Given the description of an element on the screen output the (x, y) to click on. 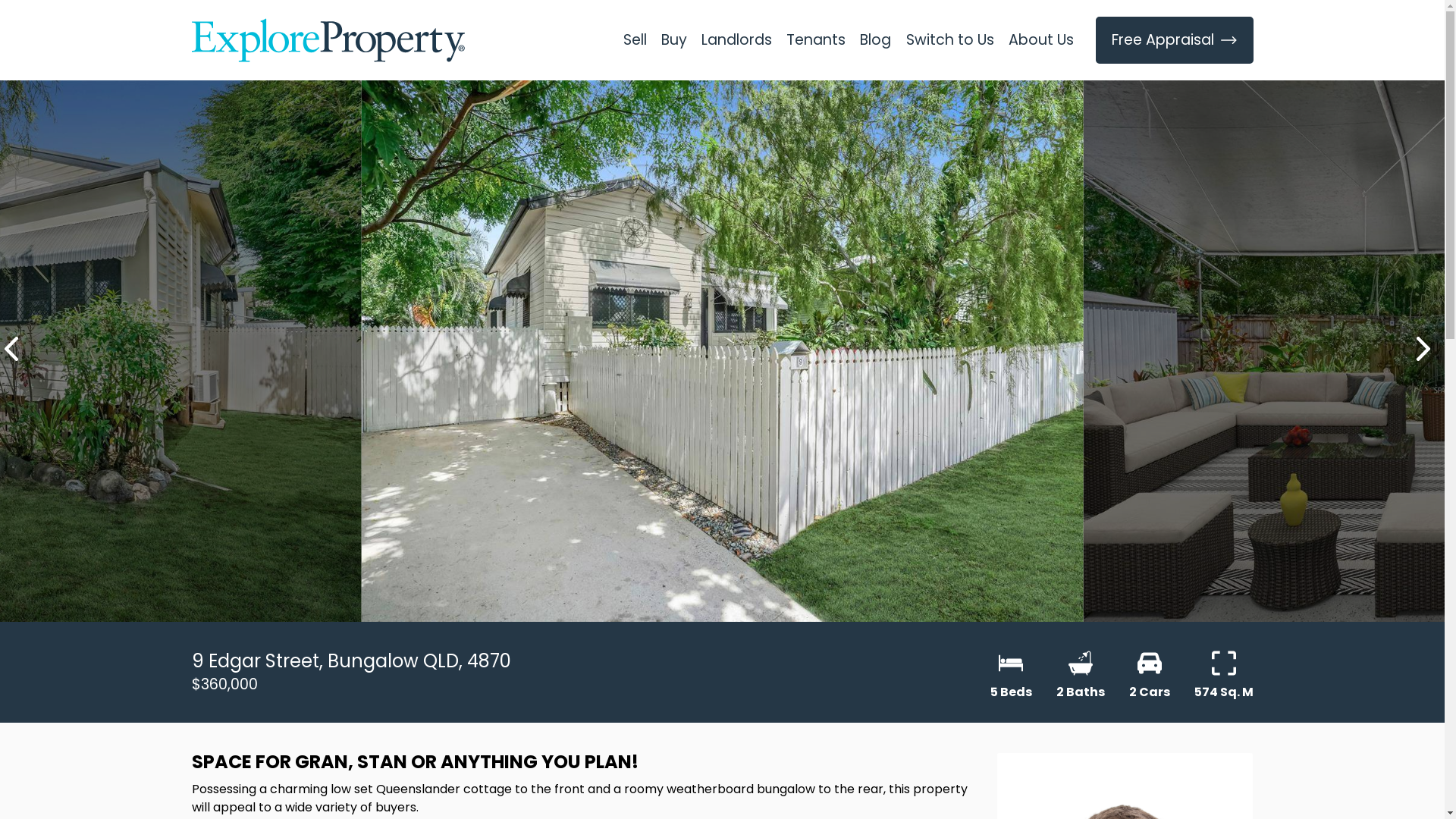
Blog Element type: text (875, 39)
Tenants Element type: text (816, 39)
Landlords Element type: text (735, 39)
Sell Element type: text (634, 39)
About Us Element type: text (1040, 39)
Switch to Us Element type: text (949, 39)
Free Appraisal Element type: text (1174, 39)
Buy Element type: text (673, 39)
